Given the description of an element on the screen output the (x, y) to click on. 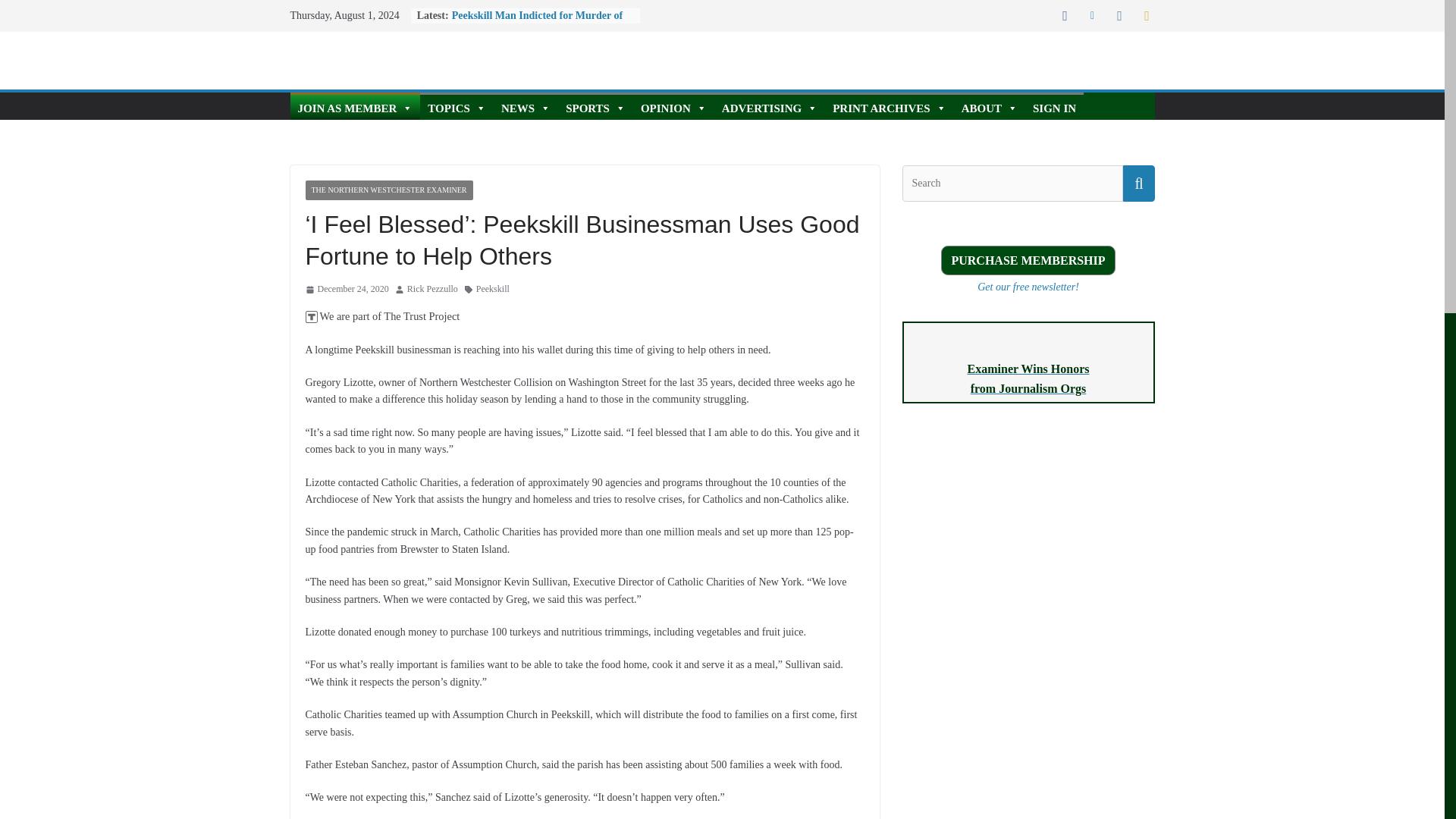
NEWS (525, 105)
Peekskill Man Indicted for Murder of County Social Worker (537, 22)
JOIN AS MEMBER (354, 105)
TOPICS (456, 105)
6:30 am (346, 289)
Peekskill Man Indicted for Murder of County Social Worker (537, 22)
Rick Pezzullo (432, 289)
